Given the description of an element on the screen output the (x, y) to click on. 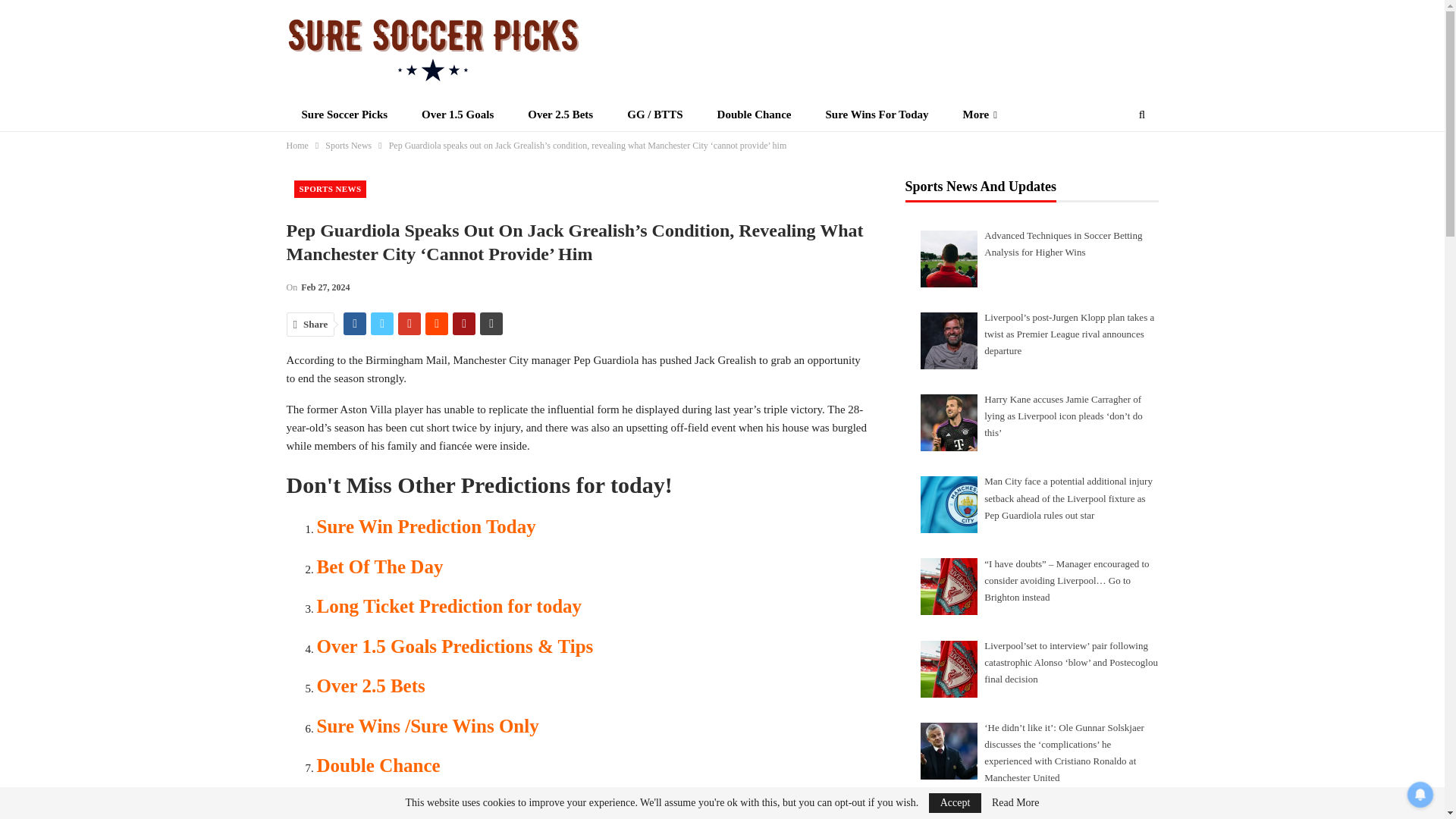
More (979, 114)
Double Chance (753, 114)
Over 2.5 Bets (560, 114)
Over 1.5 Goals (457, 114)
Sure Soccer Picks (344, 114)
Sure Wins For Today (876, 114)
